Given the description of an element on the screen output the (x, y) to click on. 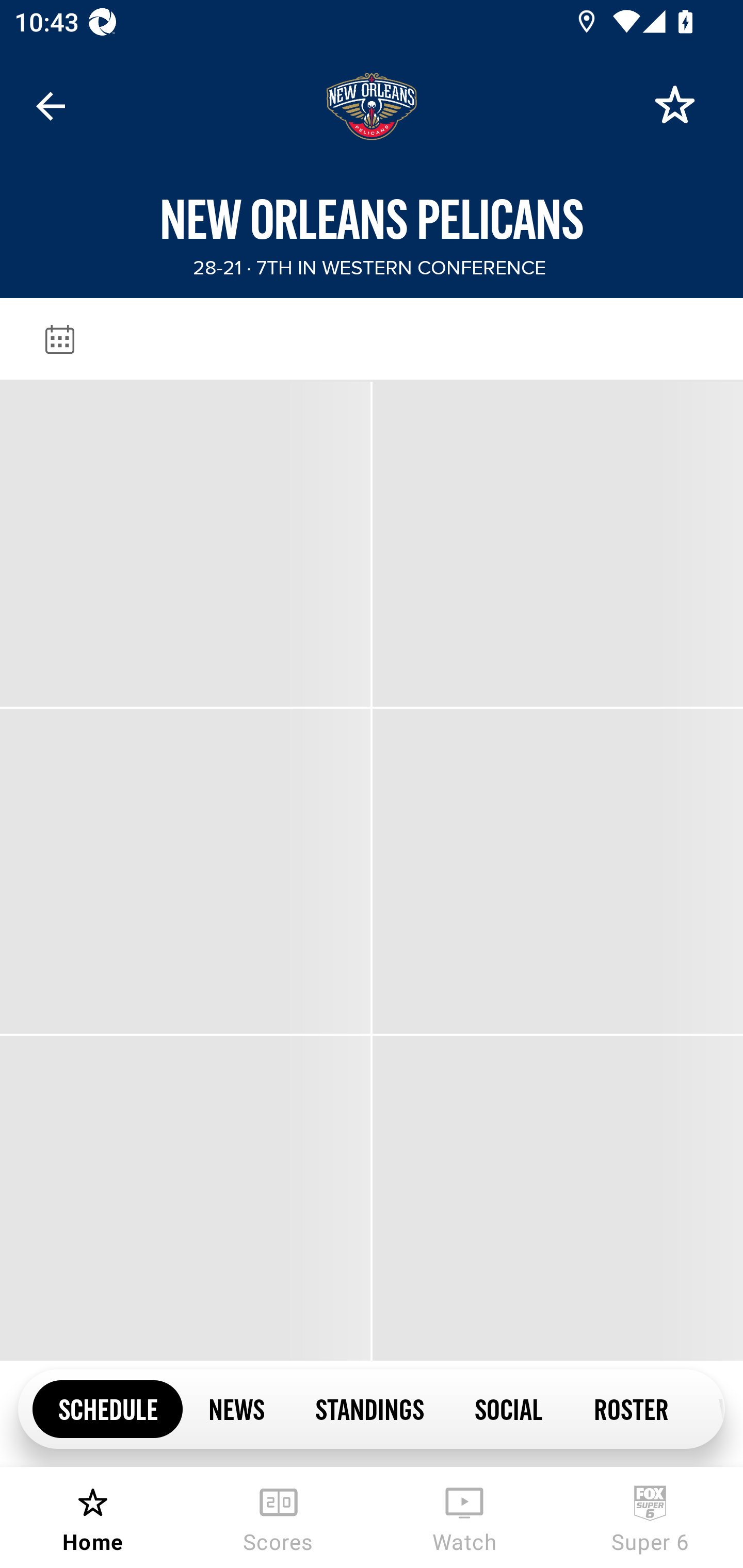
Navigate up (50, 106)
28-21 · 7TH IN WESTERN CONFERENCE (368, 267)
NEWS (235, 1408)
STANDINGS (369, 1408)
SOCIAL (508, 1408)
ROSTER (630, 1408)
Scores (278, 1517)
Watch (464, 1517)
Super 6 (650, 1517)
